Given the description of an element on the screen output the (x, y) to click on. 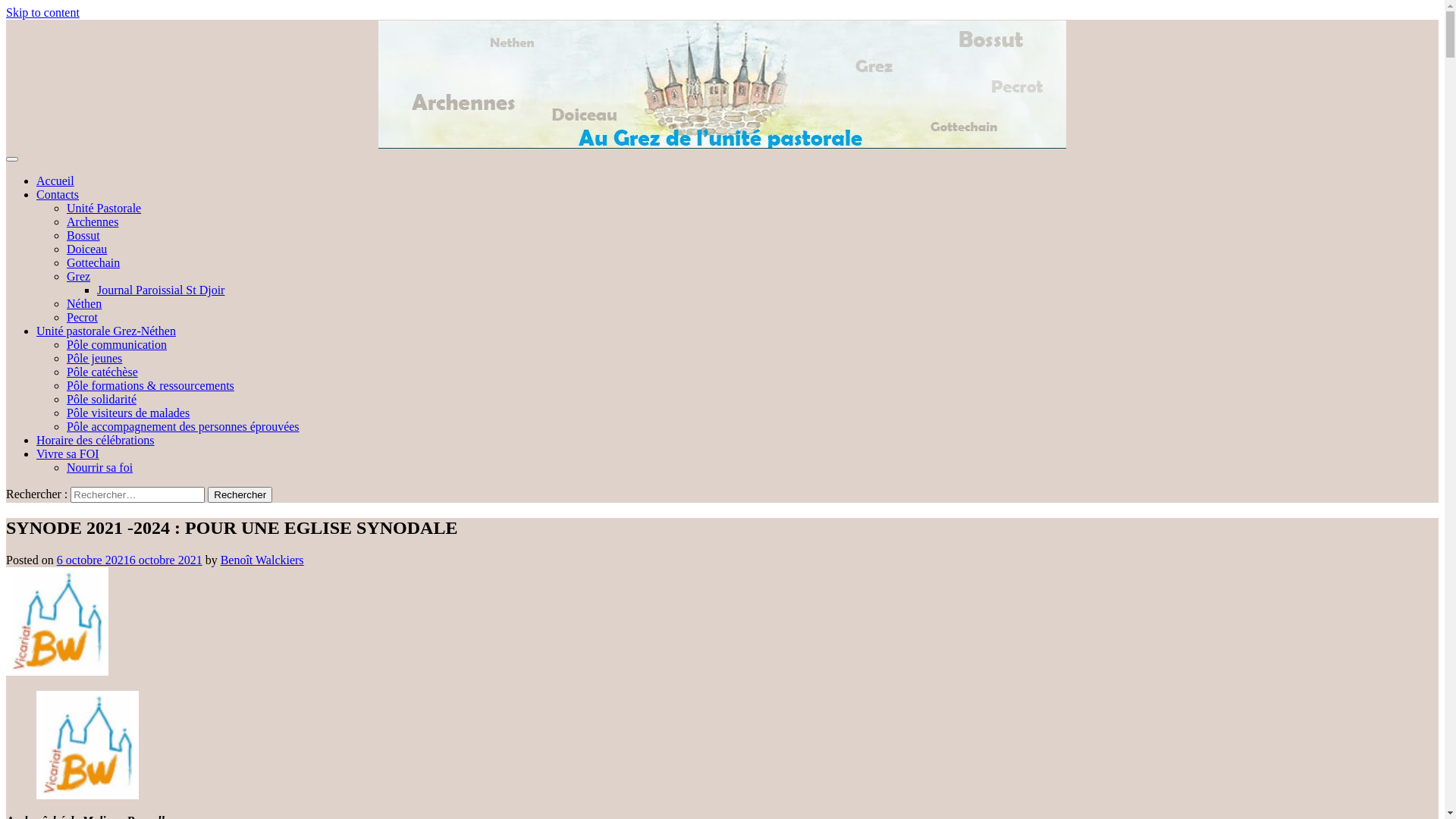
Doiceau Element type: text (86, 248)
Journal Paroissial St Djoir Element type: text (160, 289)
Nourrir sa foi Element type: text (99, 467)
Contacts Element type: text (57, 194)
Vivre sa FOI Element type: text (67, 453)
Archennes Element type: text (92, 221)
Accueil Element type: text (55, 180)
6 octobre 20216 octobre 2021 Element type: text (129, 559)
Grez Element type: text (78, 275)
Rechercher Element type: text (239, 494)
Skip to content Element type: text (42, 12)
Gottechain Element type: text (92, 262)
Pecrot Element type: text (81, 316)
Bossut Element type: text (83, 235)
